Given the description of an element on the screen output the (x, y) to click on. 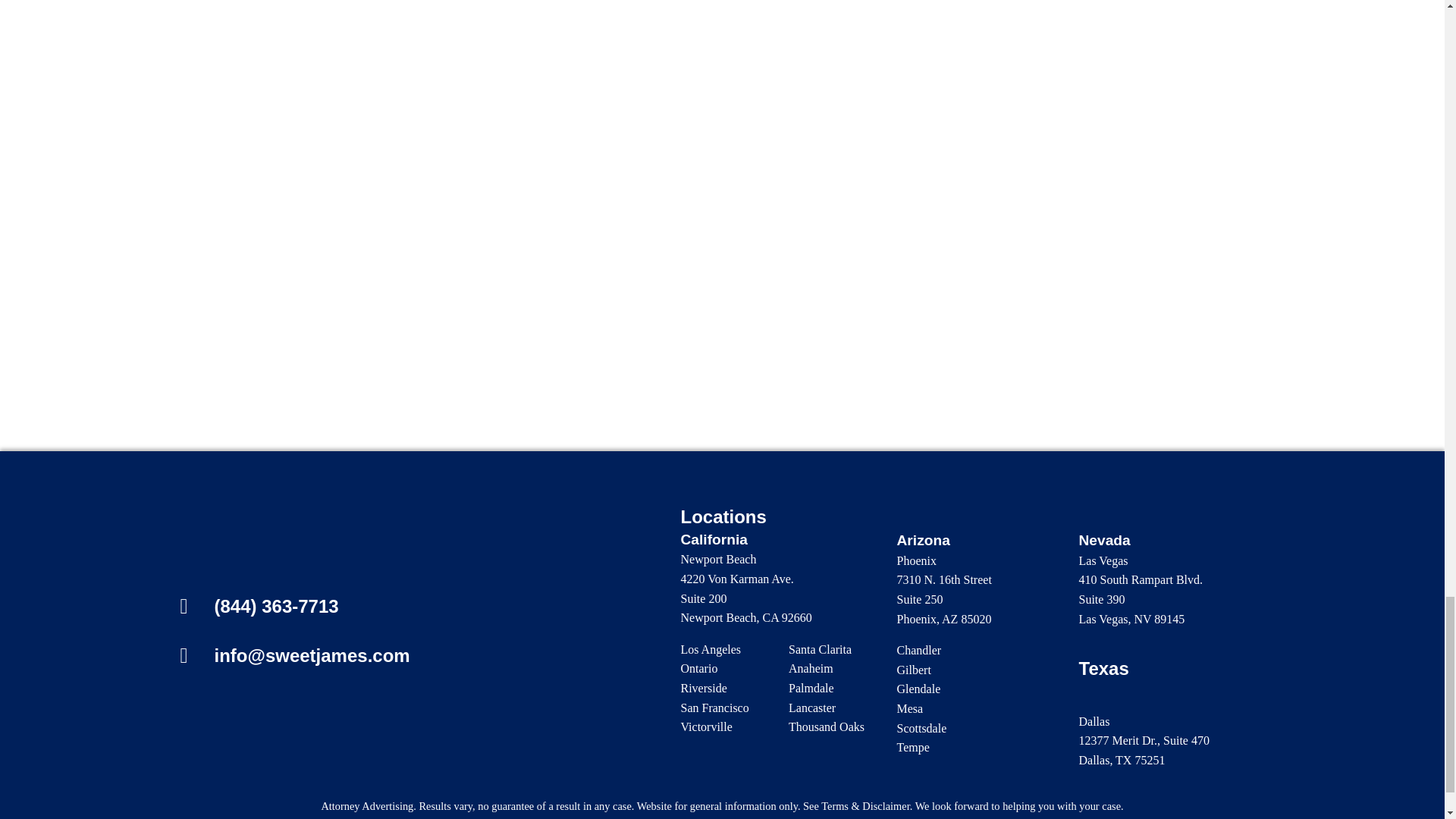
Dallas (1093, 721)
Las Vegas (1102, 560)
San Francisco (715, 707)
Los Angeles (711, 649)
Phoenix (916, 560)
Victorville (706, 726)
Newport Beach (719, 558)
